Given the description of an element on the screen output the (x, y) to click on. 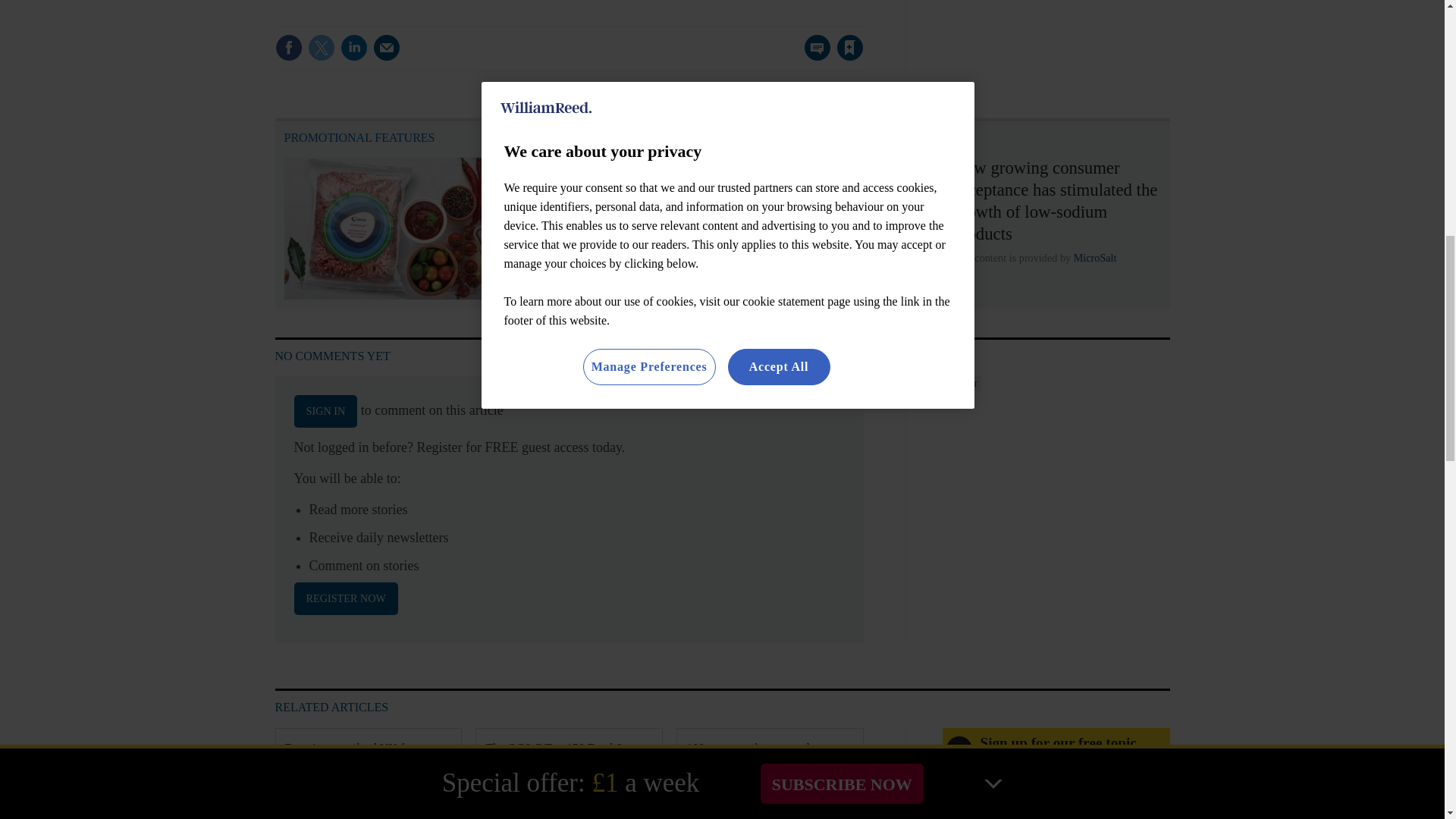
Email this article (386, 47)
Share this on Facebook (288, 47)
No comments (812, 56)
Share this on Twitter (320, 47)
Share this on Linked in (352, 47)
